Given the description of an element on the screen output the (x, y) to click on. 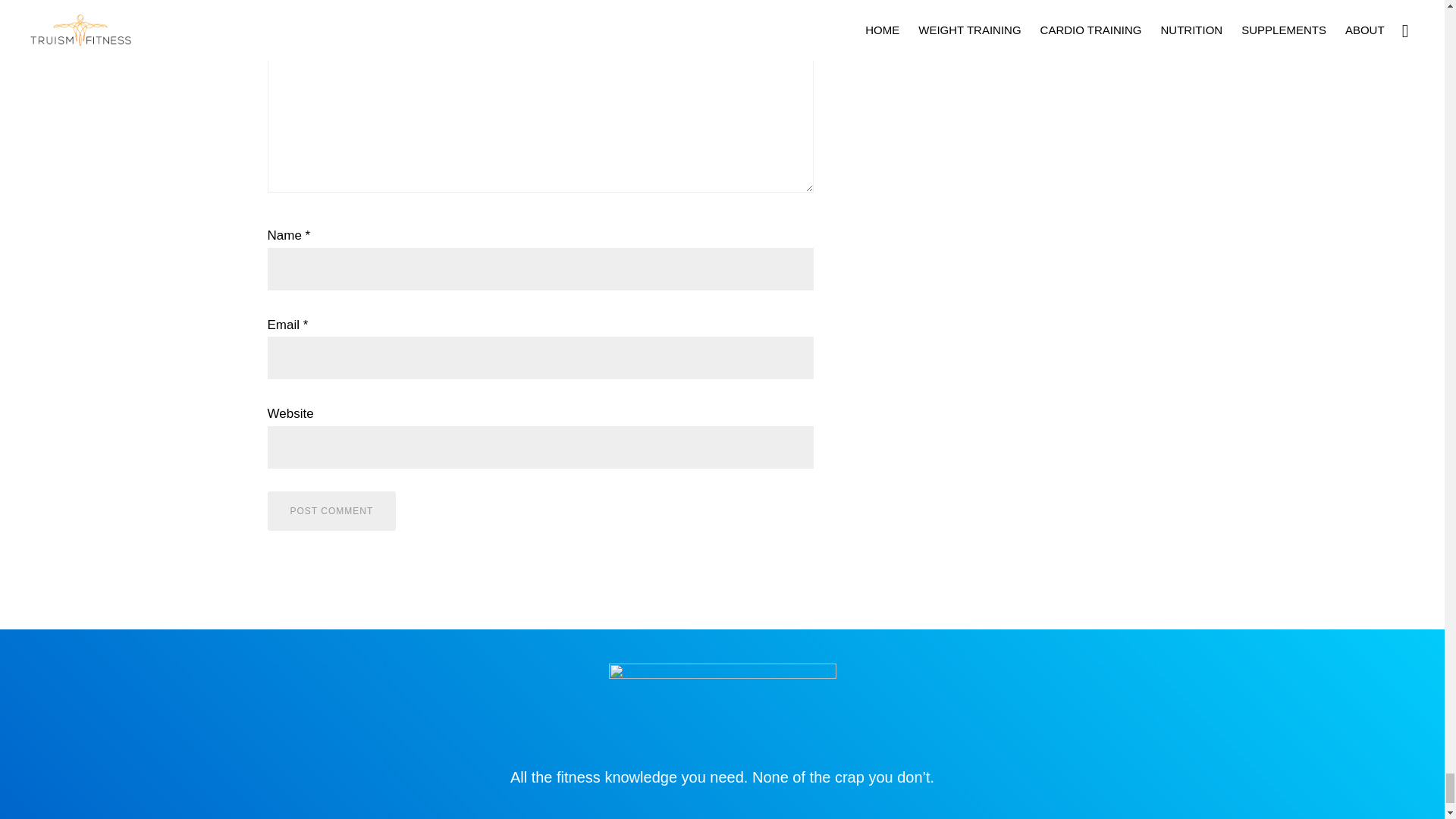
Post Comment (331, 510)
